Given the description of an element on the screen output the (x, y) to click on. 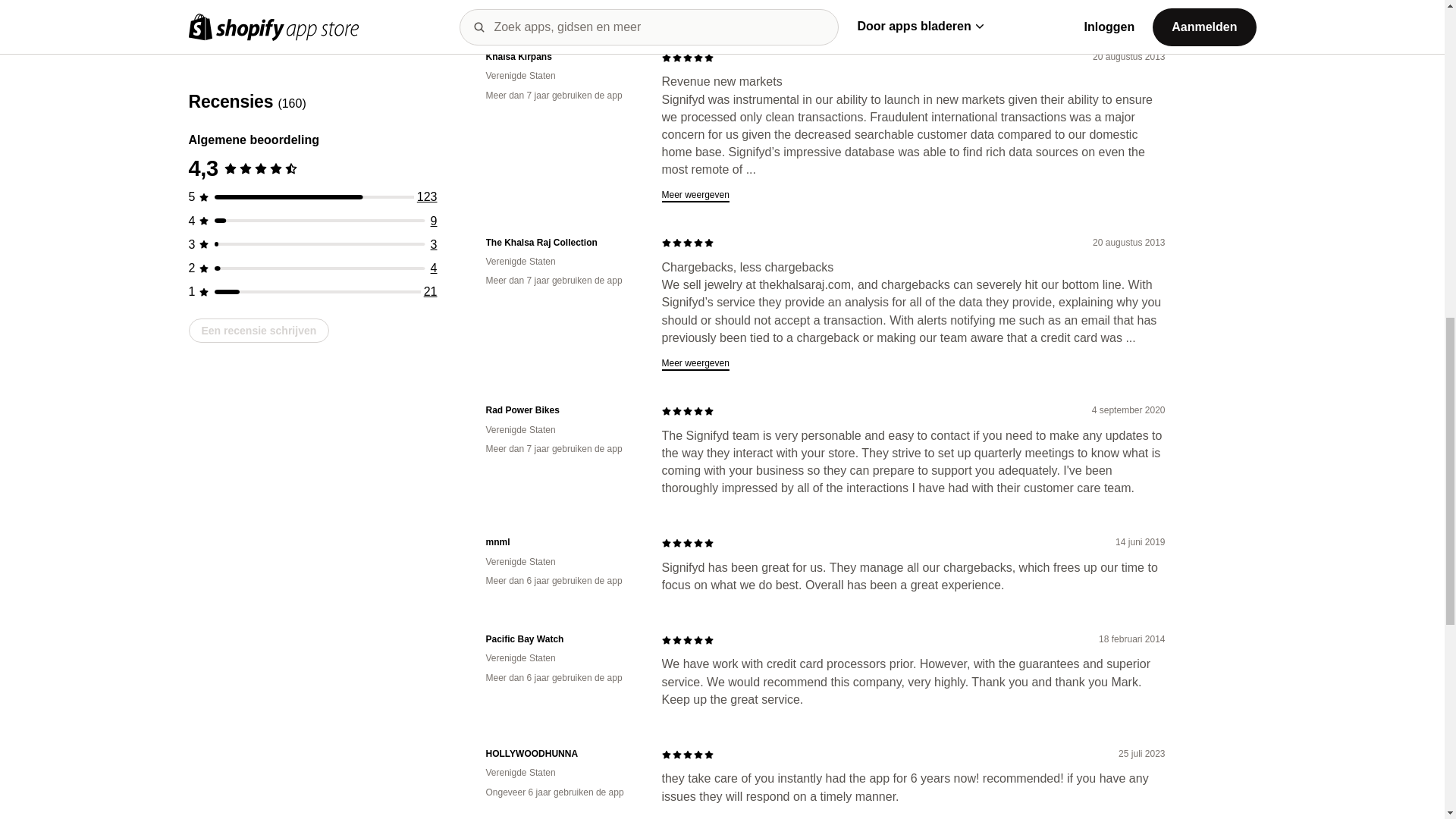
Rad Power Bikes (560, 410)
Pacific Bay Watch (560, 639)
Khalsa Kirpans (560, 56)
mnml (560, 542)
The Khalsa Raj Collection (560, 242)
HOLLYWOODHUNNA (560, 753)
